Given the description of an element on the screen output the (x, y) to click on. 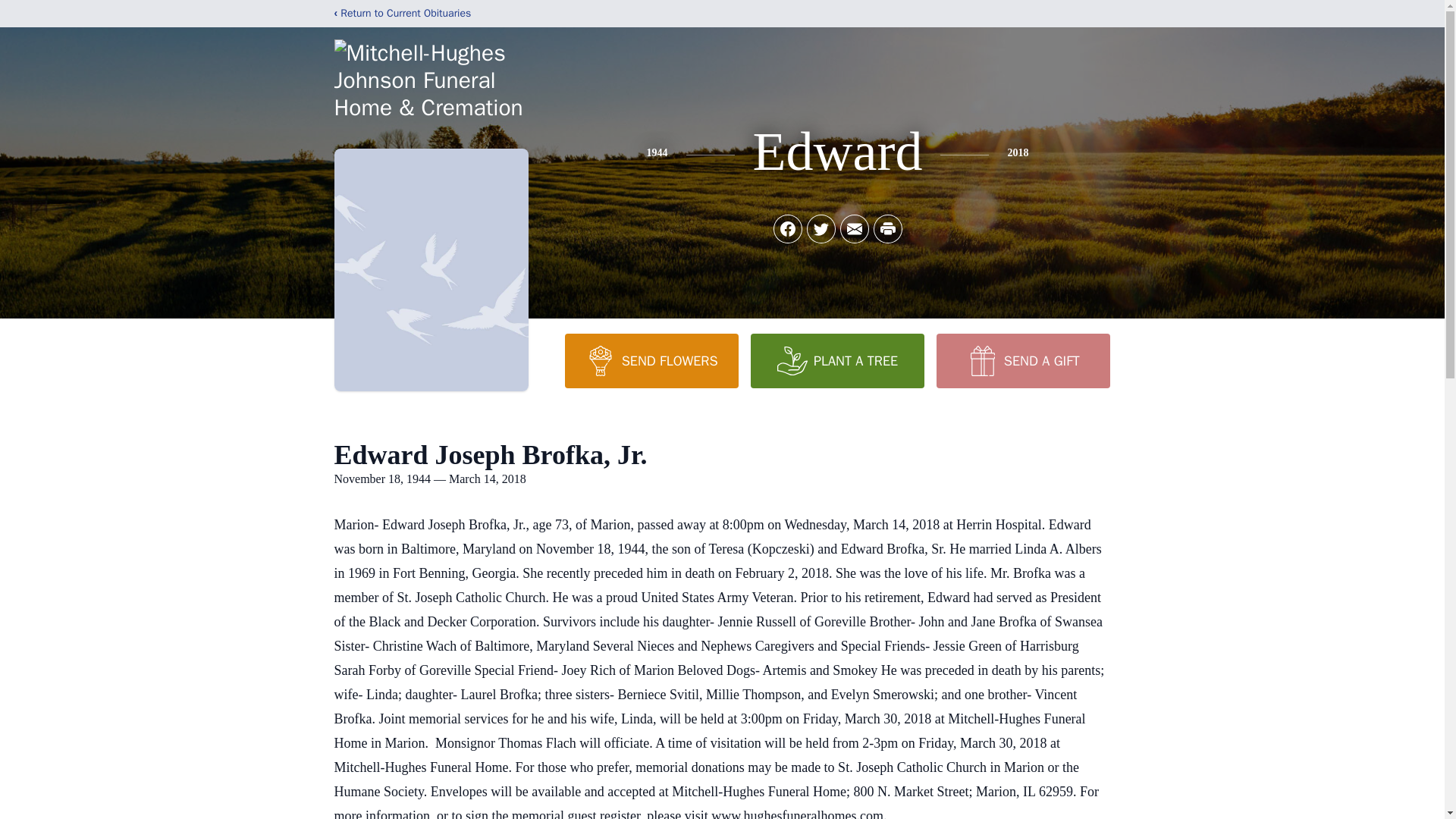
SEND FLOWERS (651, 360)
PLANT A TREE (837, 360)
SEND A GIFT (1022, 360)
